Given the description of an element on the screen output the (x, y) to click on. 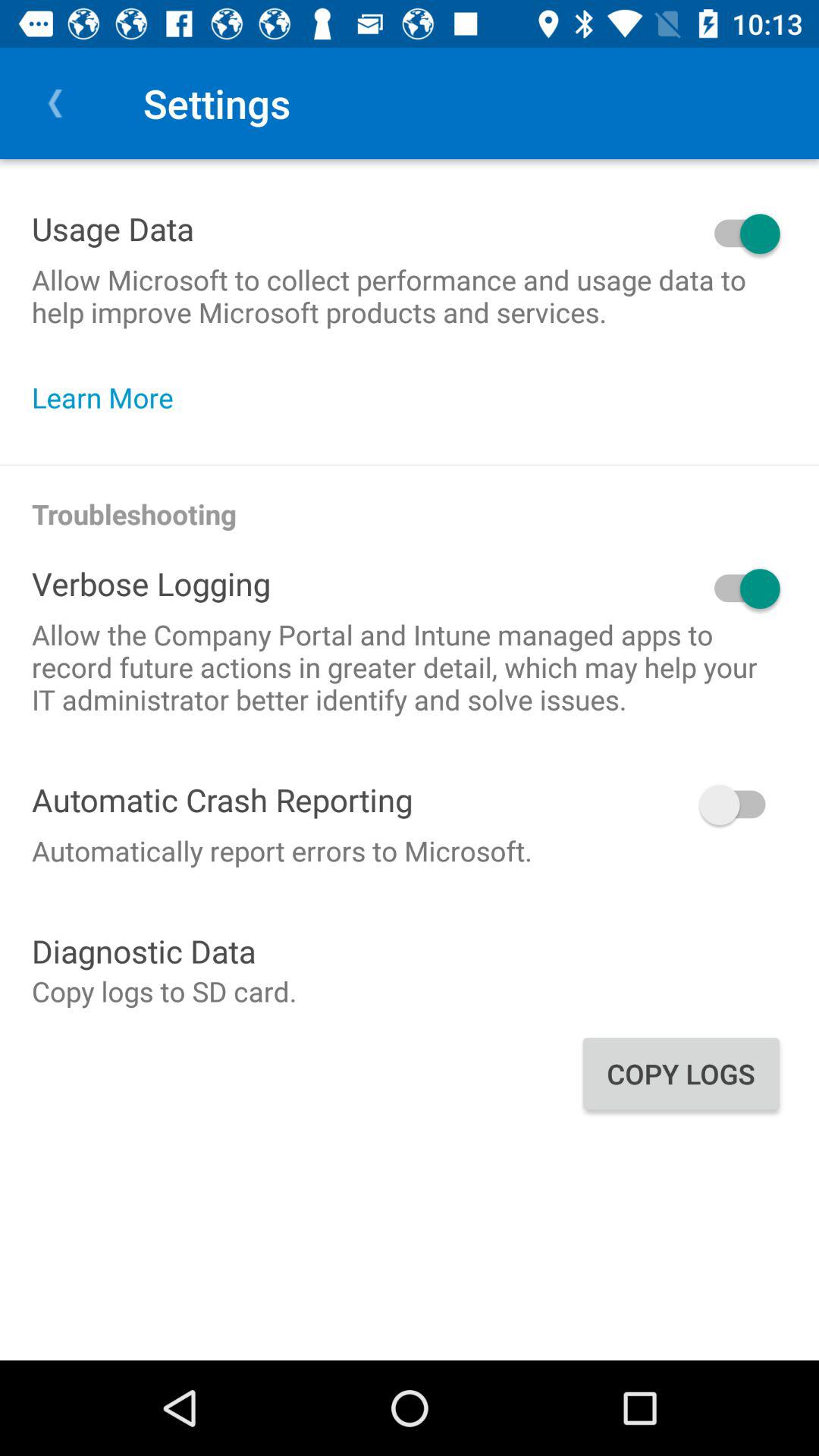
click on icon on the right side of verbose logging (529, 588)
click on onoff button which is right side of the automatic crash reporting (600, 804)
click on learn more (110, 397)
click on the copy logs (680, 1073)
